Given the description of an element on the screen output the (x, y) to click on. 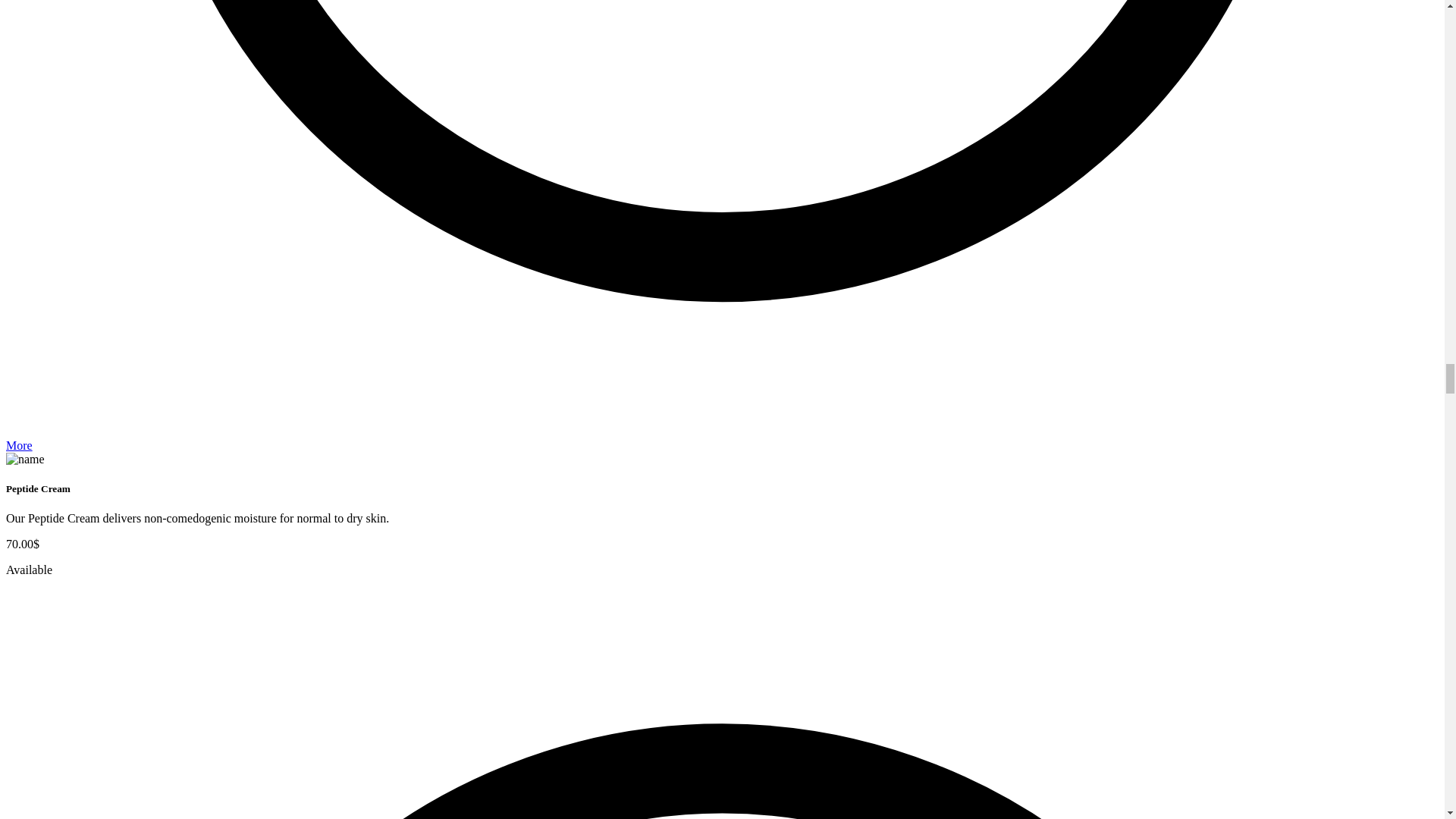
More (18, 445)
